Given the description of an element on the screen output the (x, y) to click on. 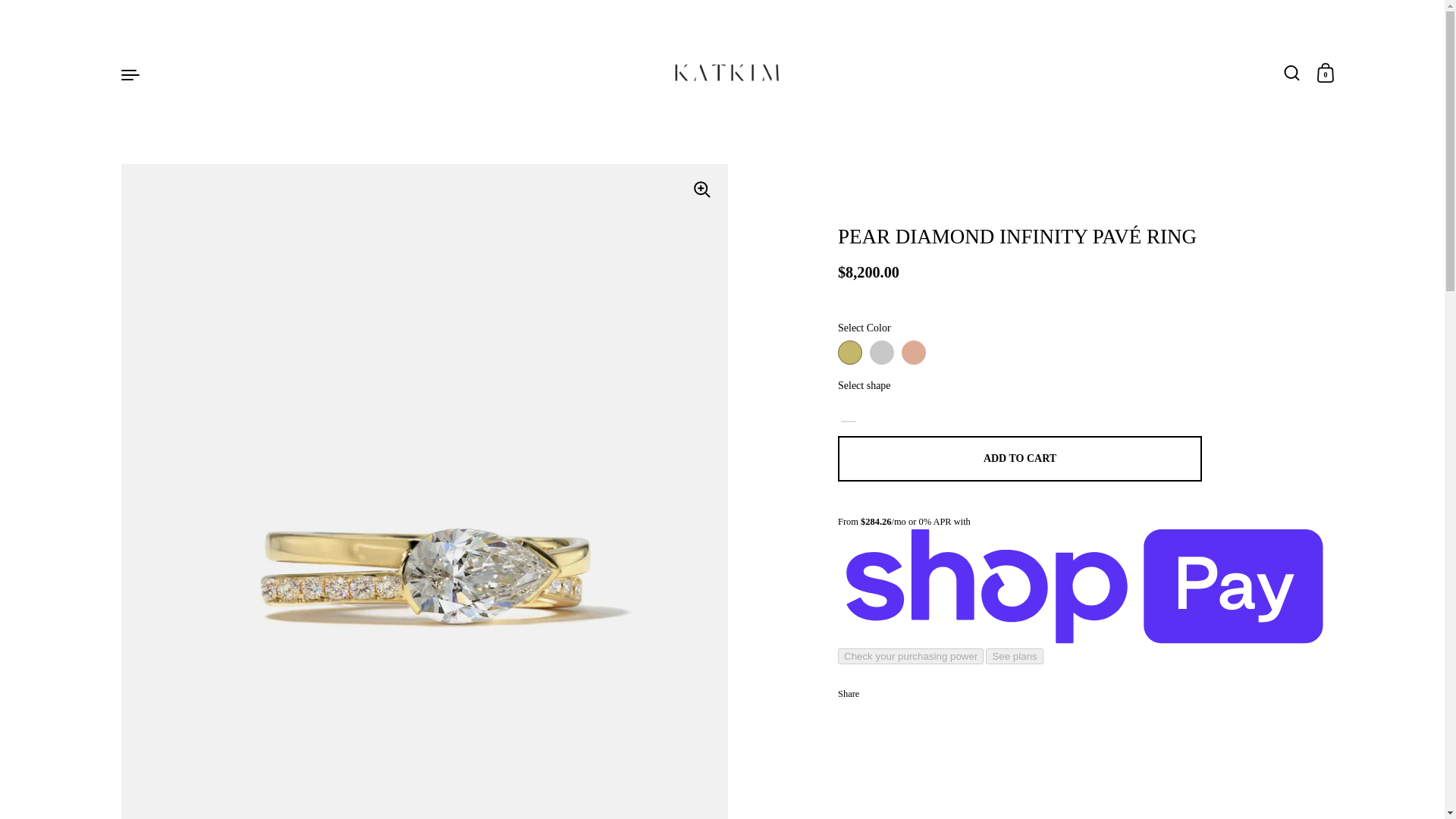
KATKIM (727, 73)
0 (1325, 73)
